Given the description of an element on the screen output the (x, y) to click on. 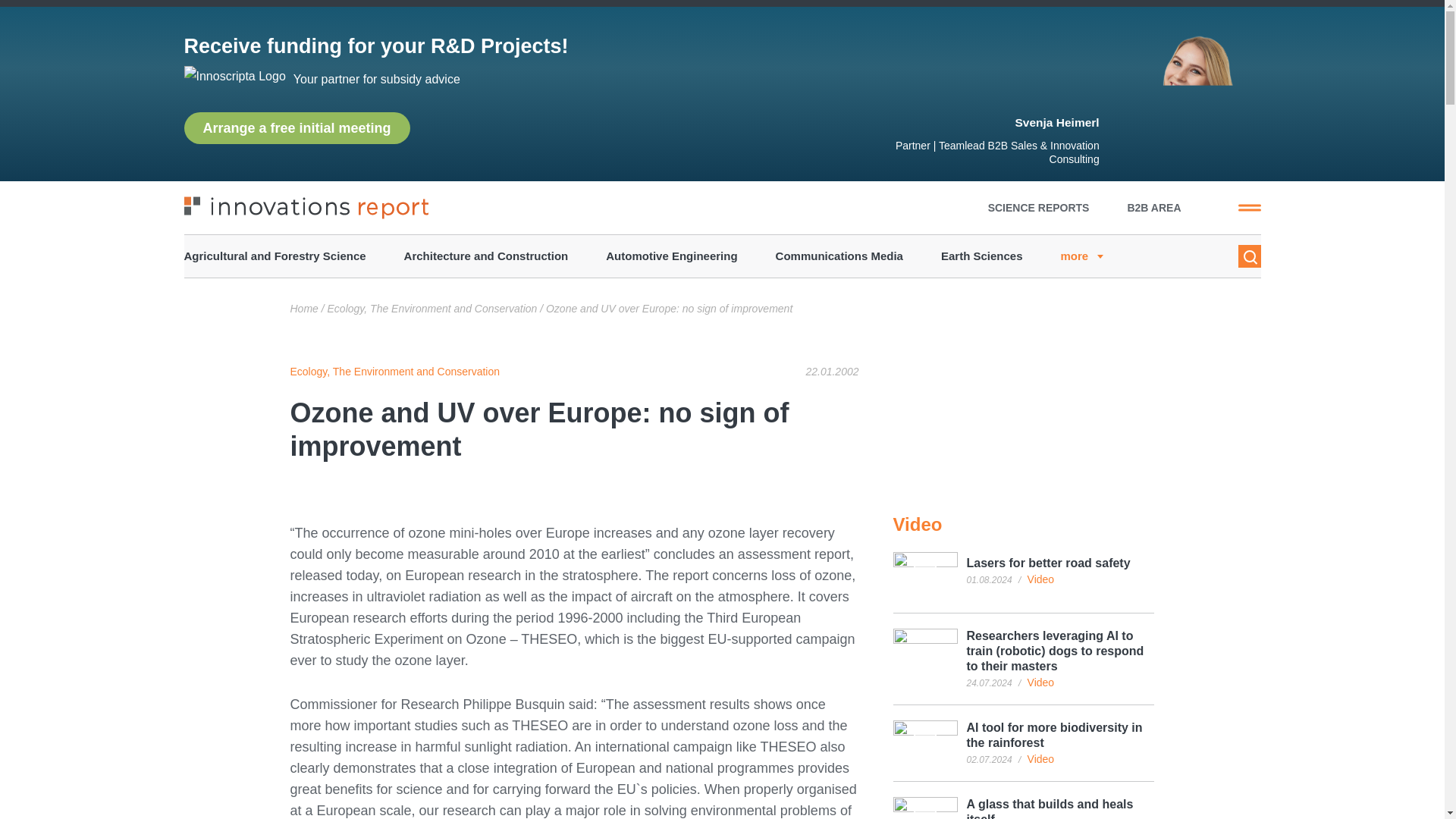
Automotive Engineering (670, 256)
Communications Media (839, 256)
Agricultural and Forestry Science (274, 256)
SCIENCE REPORTS (1038, 207)
Arrange a free initial meeting (296, 128)
B2B AREA (1153, 207)
Architecture and Construction (486, 256)
